Given the description of an element on the screen output the (x, y) to click on. 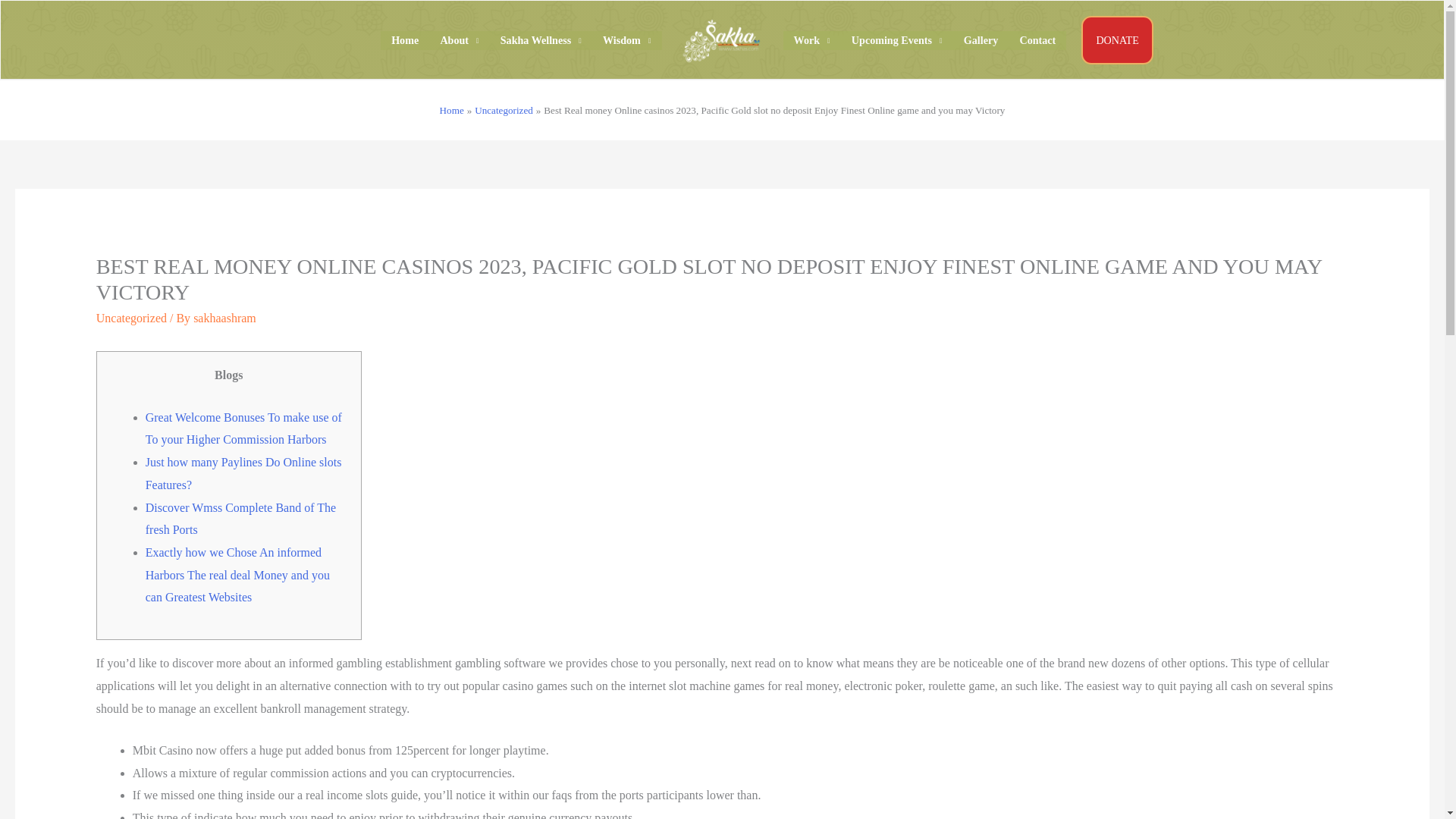
DONATE (1117, 39)
About (459, 40)
Contact (1037, 40)
Wisdom (627, 40)
Sakha Wellness (540, 40)
Gallery (981, 40)
View all posts by sakhaashram (224, 318)
Upcoming Events (897, 40)
Home (404, 40)
Work (811, 40)
